Given the description of an element on the screen output the (x, y) to click on. 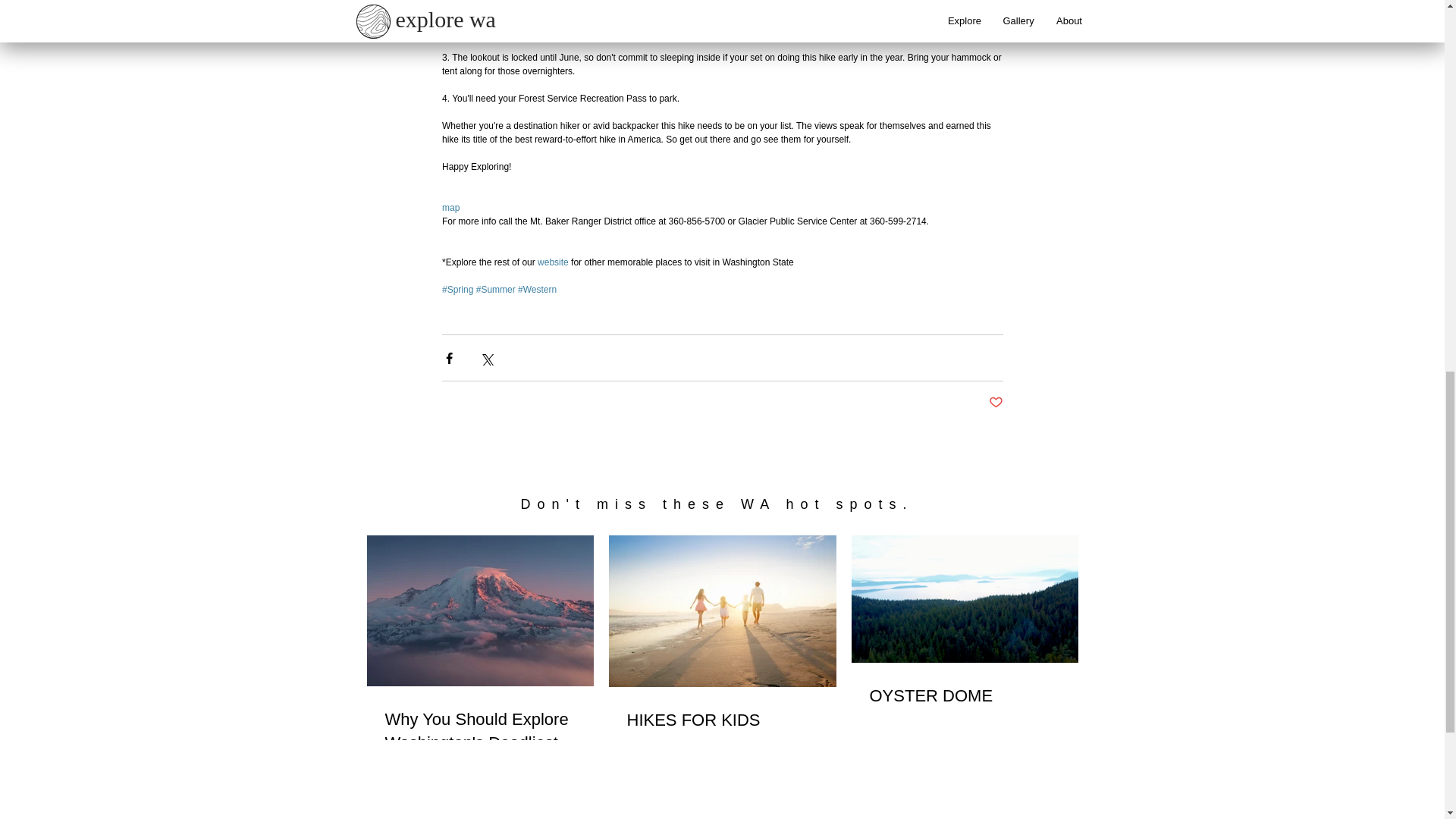
Post not marked as liked (995, 402)
Why You Should Explore Washington's Deadliest Volcano (480, 743)
OYSTER DOME (964, 696)
map (449, 207)
website (553, 262)
HIKES FOR KIDS (721, 720)
